Given the description of an element on the screen output the (x, y) to click on. 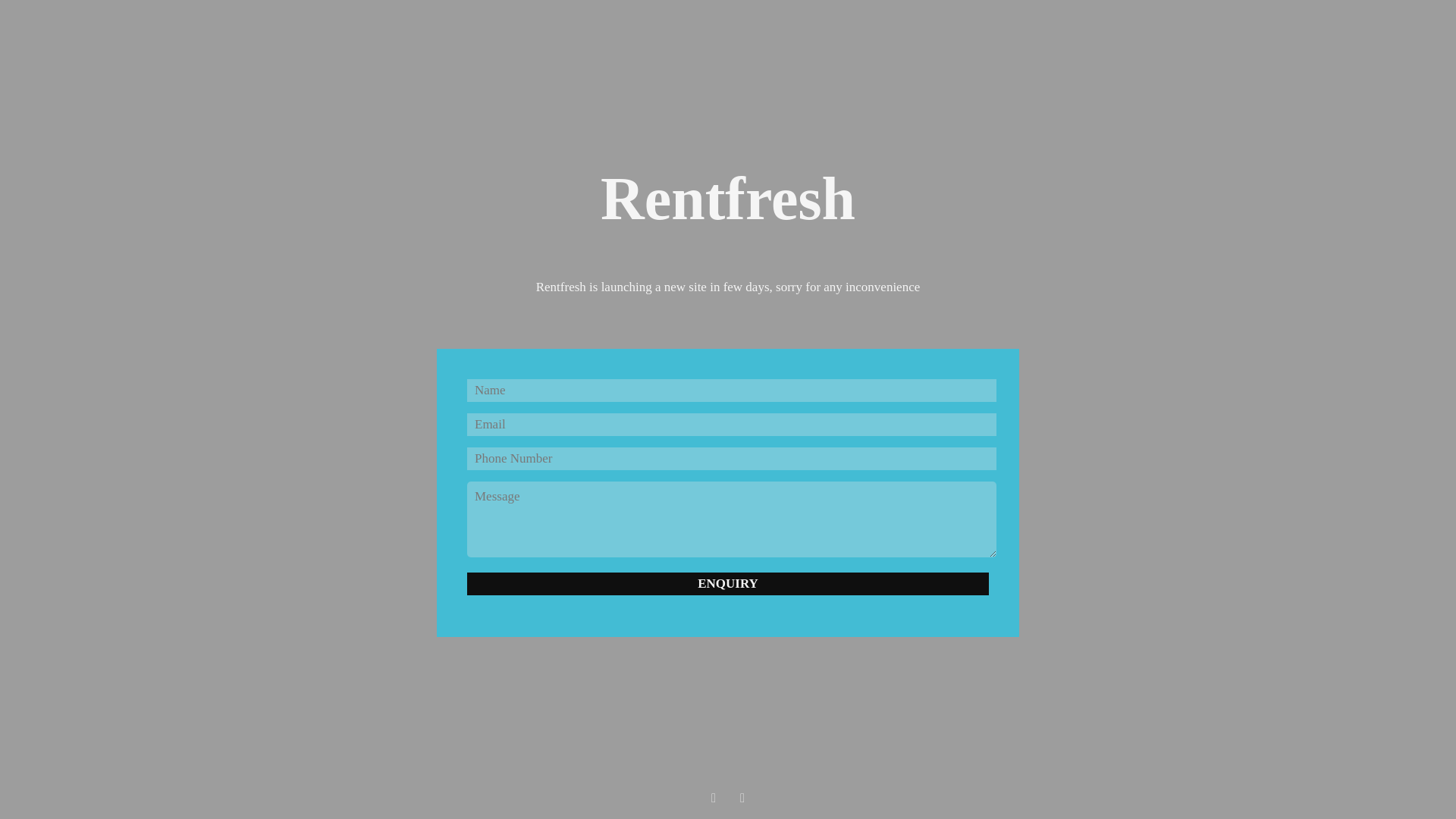
Rentfresh (727, 208)
Enquiry (727, 583)
Enquiry (727, 583)
